Given the description of an element on the screen output the (x, y) to click on. 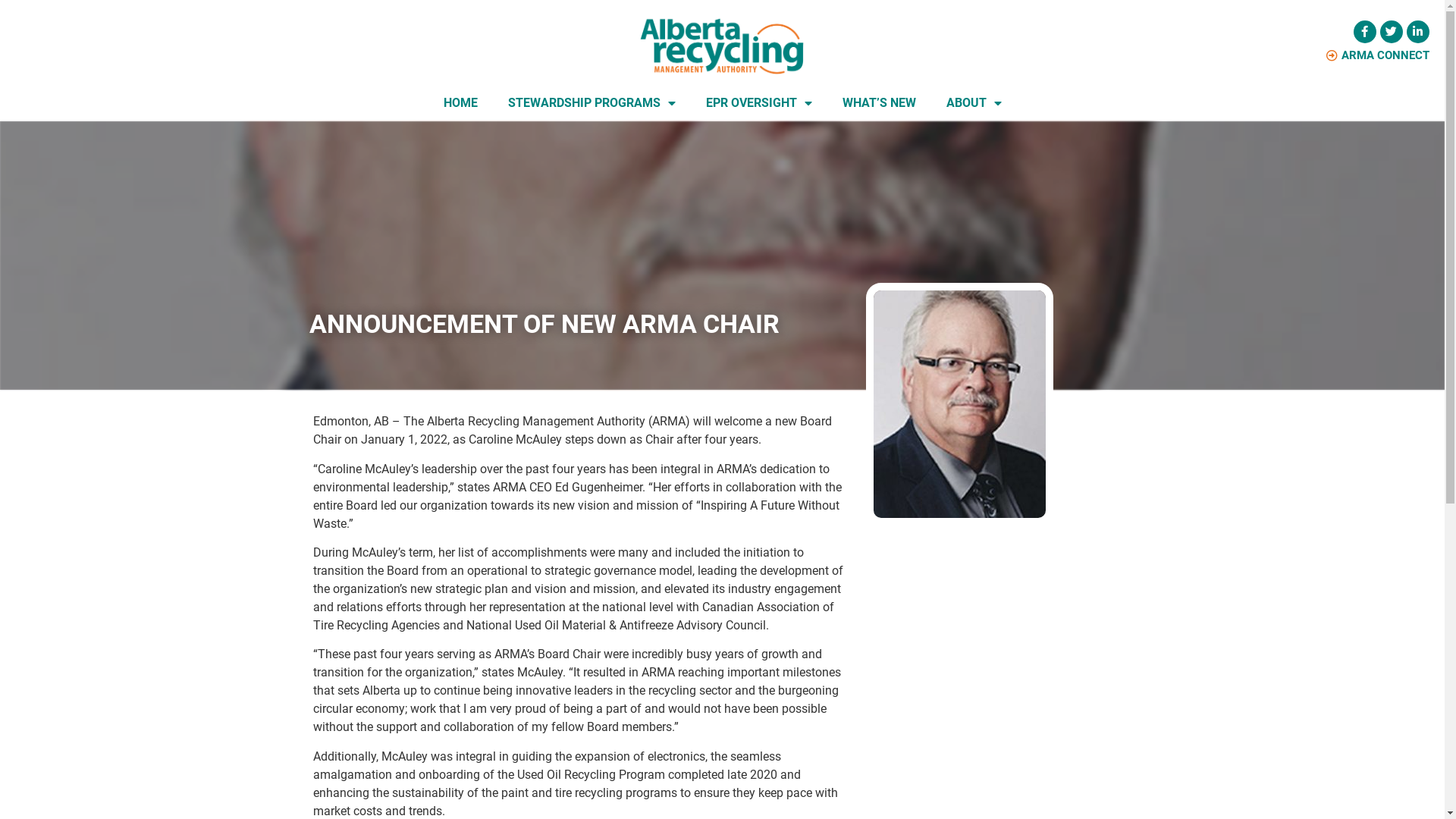
ABOUT Element type: text (973, 102)
ARMA CONNECT Element type: text (1377, 56)
HOME Element type: text (459, 102)
EPR OVERSIGHT Element type: text (758, 102)
STEWARDSHIP PROGRAMS Element type: text (591, 102)
